Given the description of an element on the screen output the (x, y) to click on. 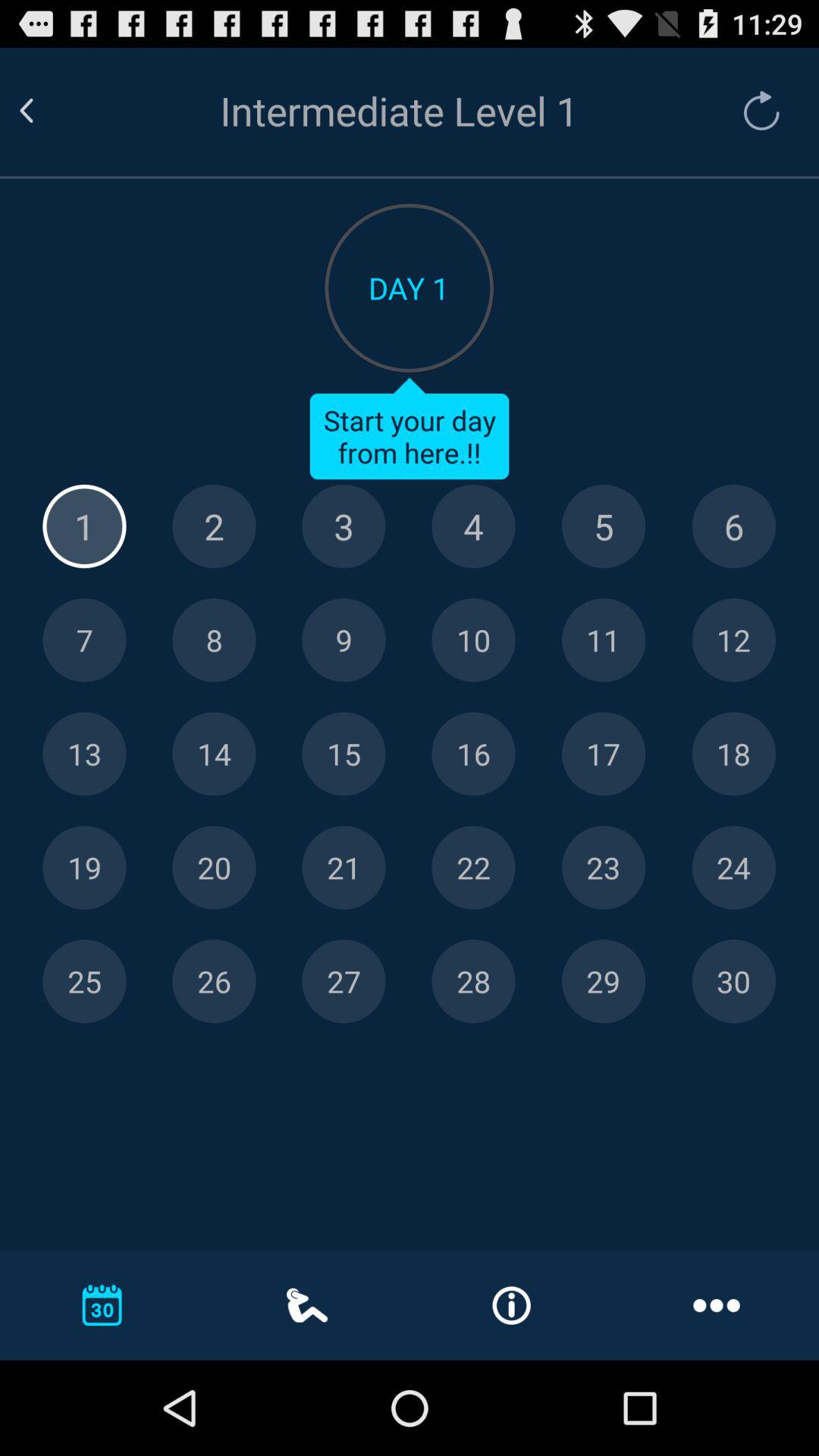
select day 23 (603, 867)
